Given the description of an element on the screen output the (x, y) to click on. 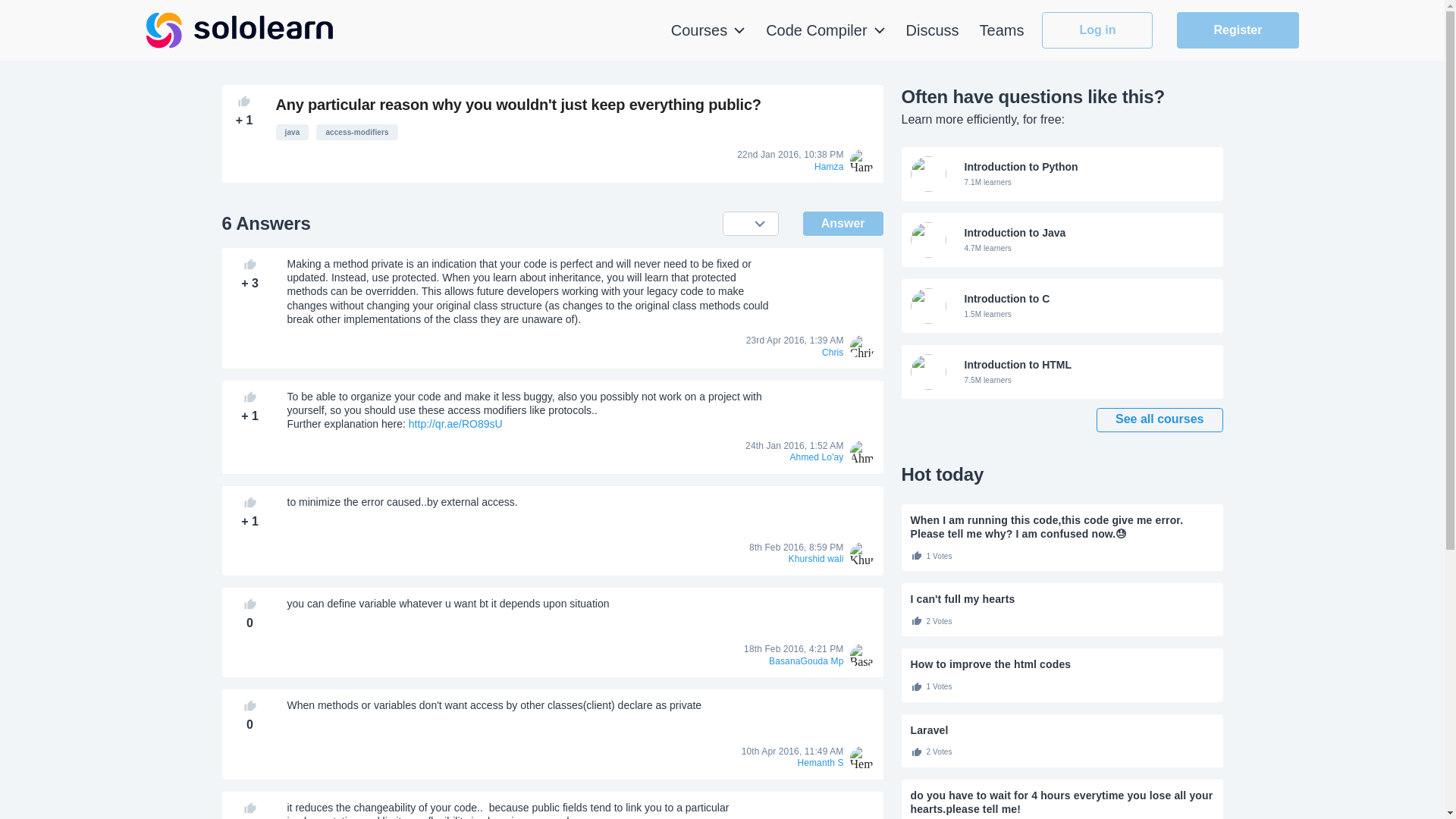
Introduction to Java (1062, 371)
How to improve the html codes (1062, 239)
Courses (1062, 239)
Answer (1061, 663)
I can't full my hearts (708, 29)
Introduction to Python (843, 223)
Register (1062, 173)
